Given the description of an element on the screen output the (x, y) to click on. 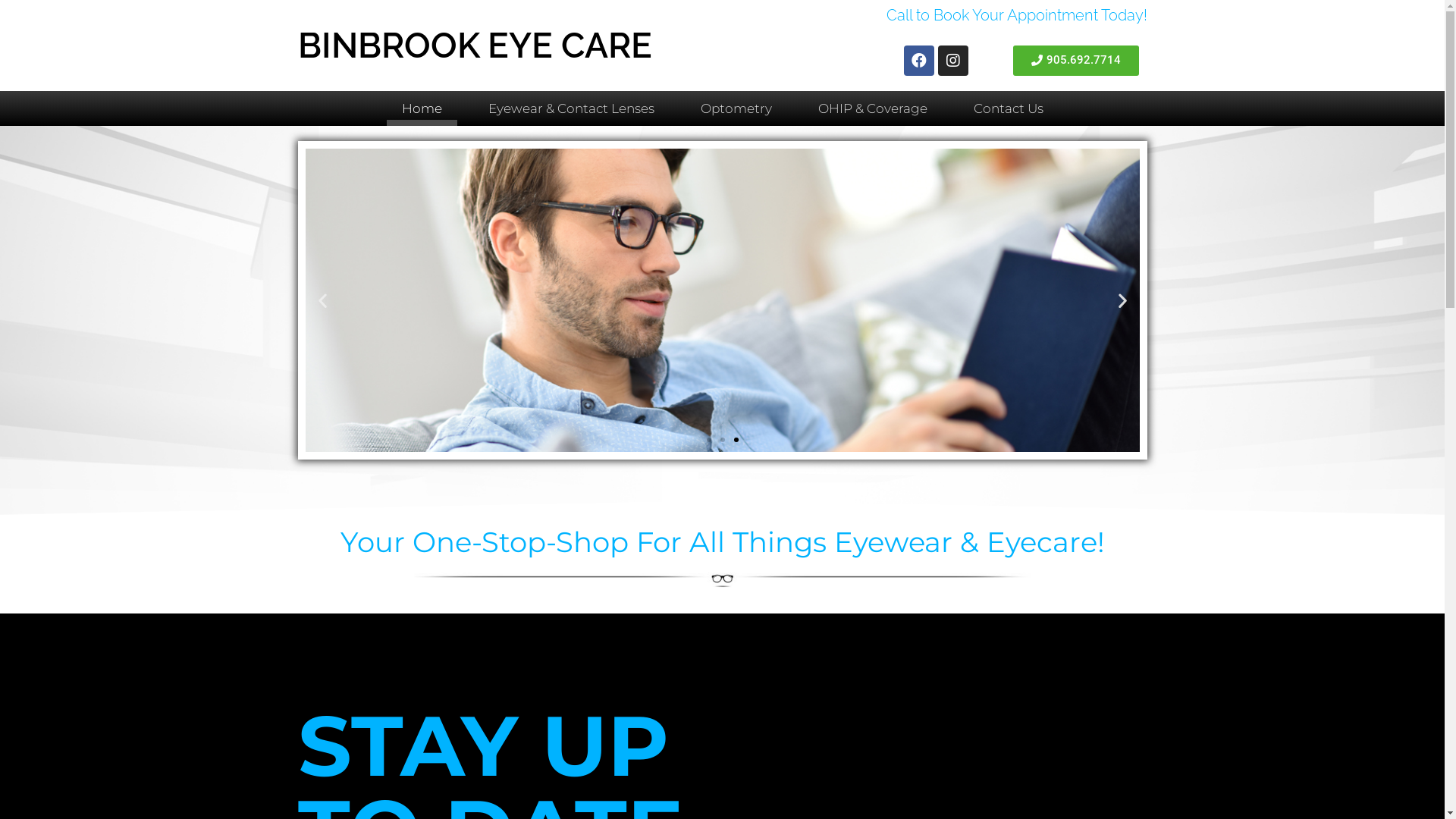
Home Element type: text (421, 108)
BINBROOK EYE CARE Element type: text (474, 45)
Contact Us Element type: text (1008, 108)
Optometry Element type: text (736, 108)
905.692.7714 Element type: text (1076, 60)
Eyewear & Contact Lenses Element type: text (571, 108)
OHIP & Coverage Element type: text (871, 108)
